Given the description of an element on the screen output the (x, y) to click on. 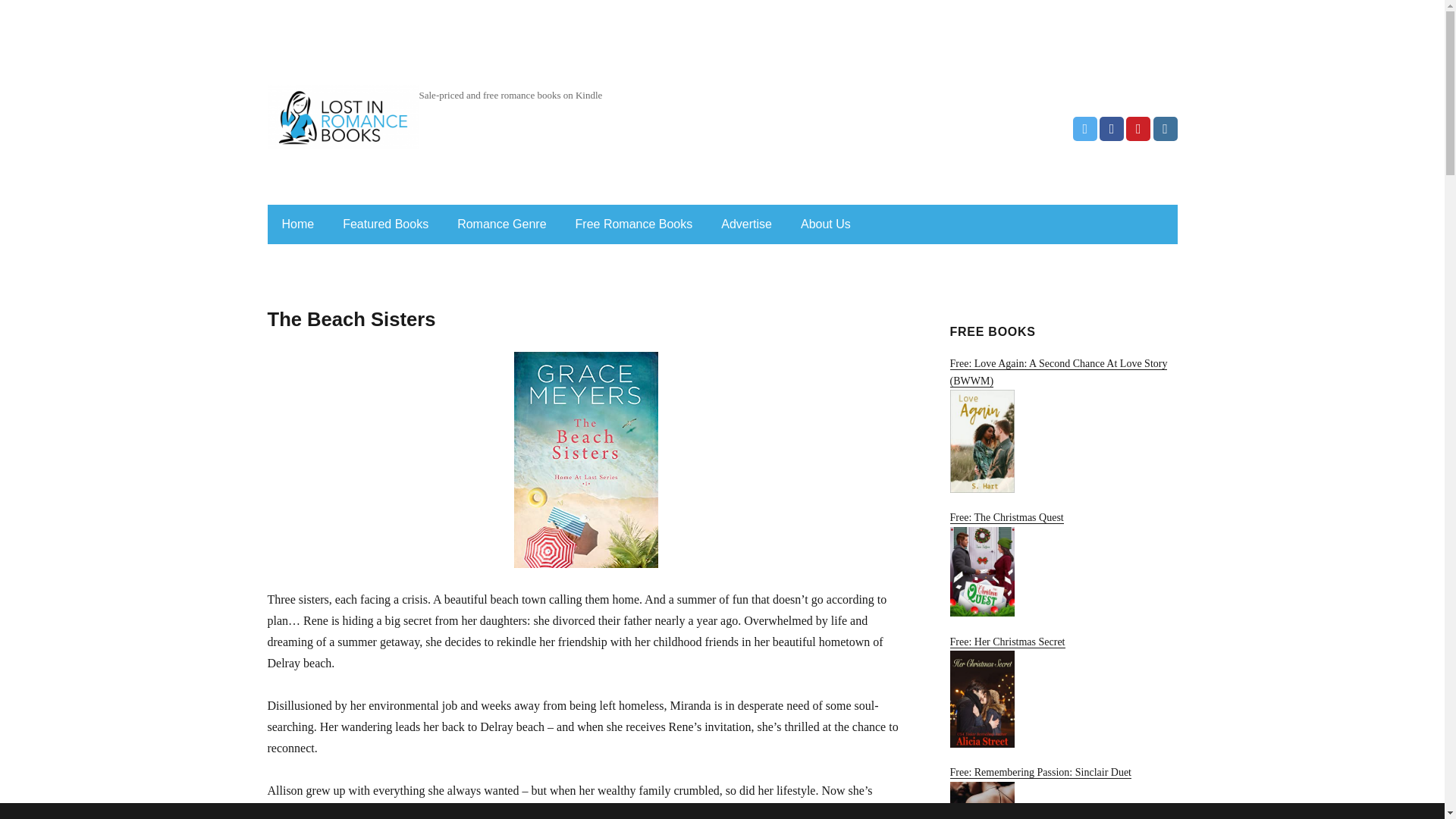
Twitter (1085, 128)
Free Romance Books (633, 224)
Romance Genre (501, 224)
Home (297, 224)
Free: The Christmas Quest (1062, 563)
Featured Books (385, 224)
Free: Remembering Passion: Sinclair Duet (1062, 792)
Advertise (746, 224)
Pinterest (1137, 128)
About Us (825, 224)
Instagram (1164, 128)
Free: Her Christmas Secret (1062, 691)
Facebook (1111, 128)
